Given the description of an element on the screen output the (x, y) to click on. 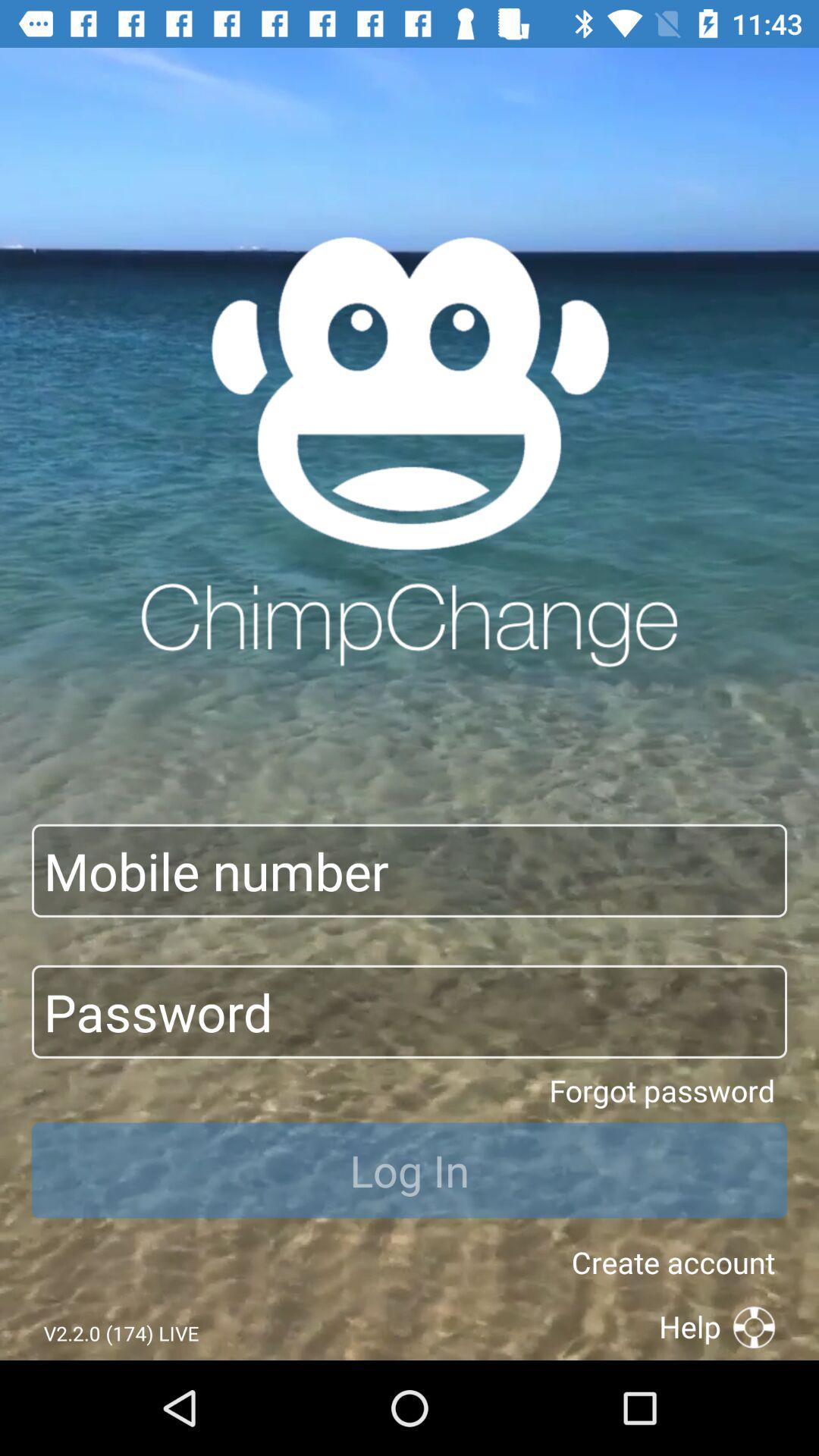
mobile number entry box (409, 870)
